Given the description of an element on the screen output the (x, y) to click on. 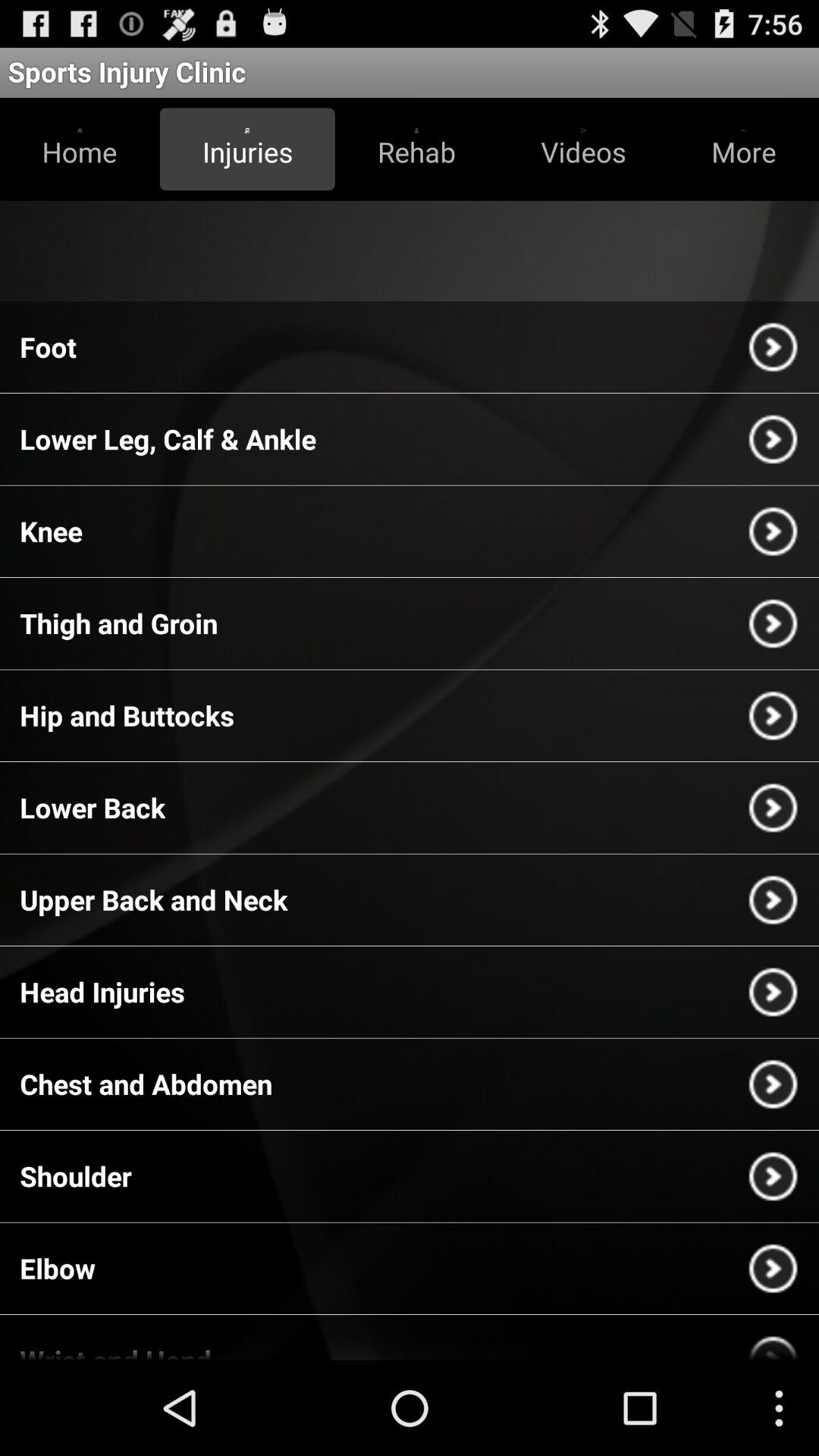
launch more (743, 149)
